Given the description of an element on the screen output the (x, y) to click on. 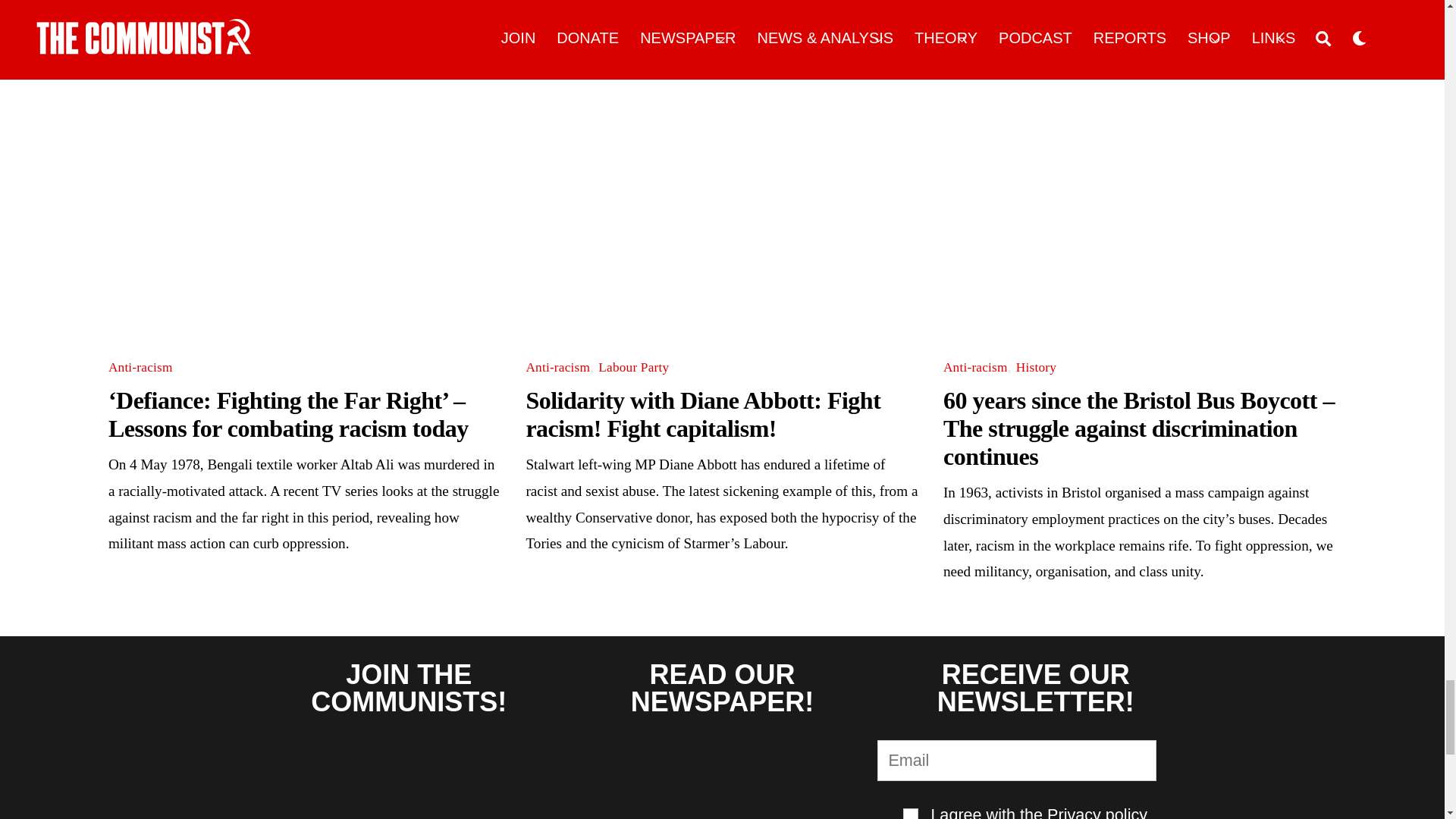
Terms and conditions (910, 813)
Privacy policy (1096, 812)
on (910, 813)
